Given the description of an element on the screen output the (x, y) to click on. 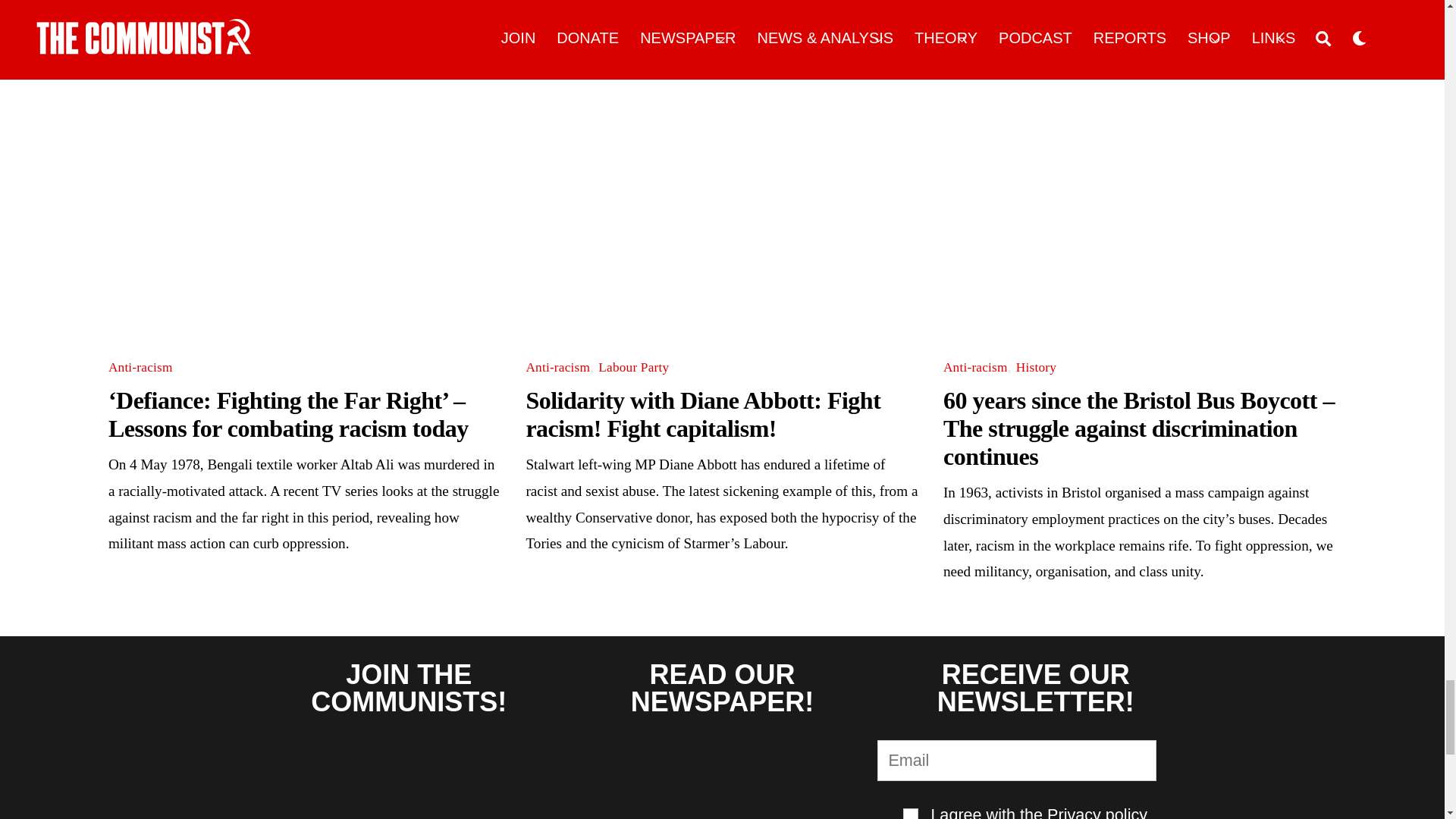
Terms and conditions (910, 813)
Privacy policy (1096, 812)
on (910, 813)
